Given the description of an element on the screen output the (x, y) to click on. 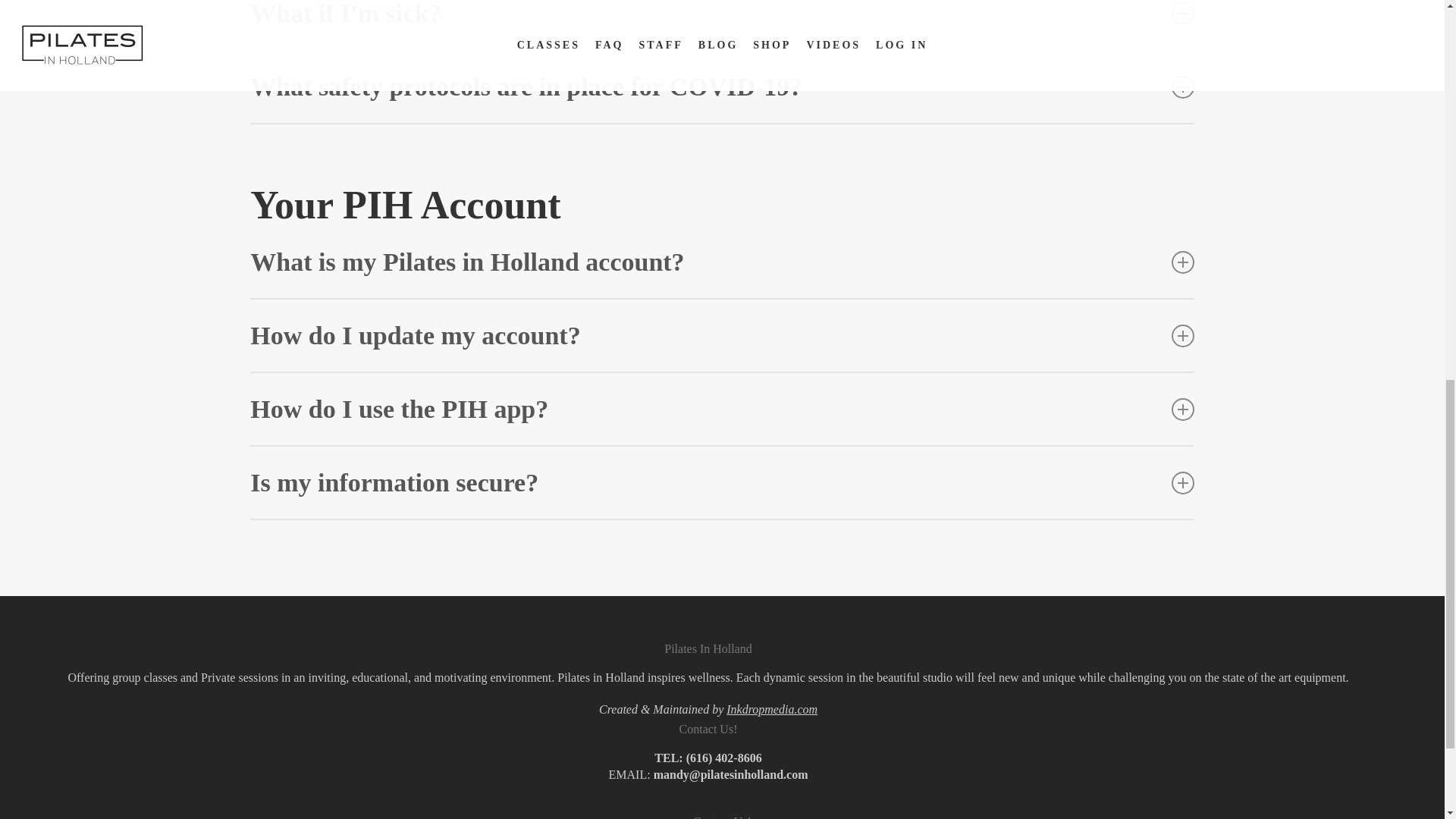
How do I use the PIH app? (721, 409)
How do I update my account? (721, 335)
What safety protocols are in place for COVID-19? (721, 86)
What is my Pilates in Holland account? (721, 262)
Send (279, 123)
Call with Google Voice (723, 757)
What if I'm sick? (721, 24)
